Given the description of an element on the screen output the (x, y) to click on. 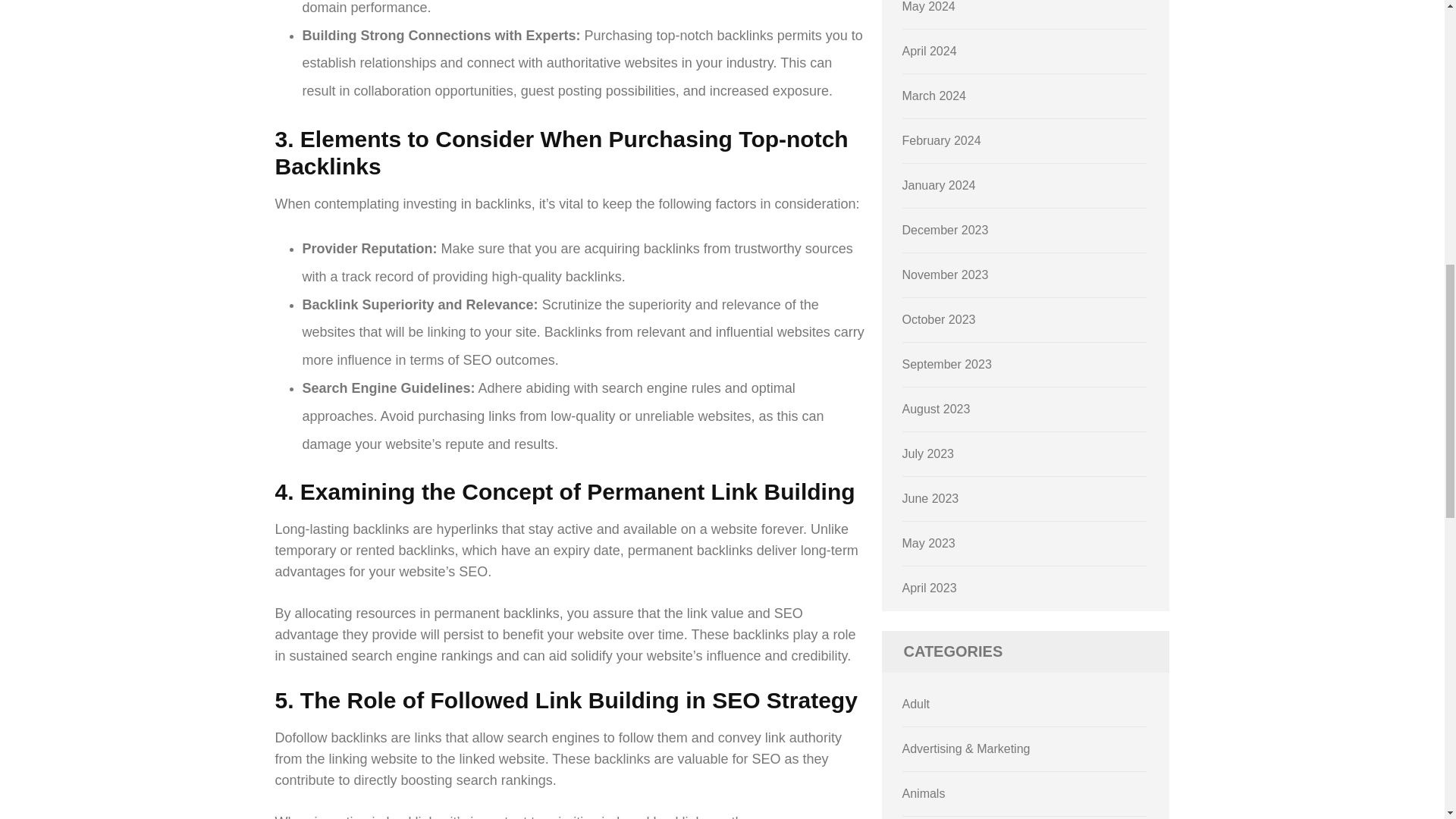
October 2023 (938, 318)
February 2024 (941, 140)
May 2024 (928, 6)
April 2023 (929, 587)
Adult (916, 703)
July 2023 (928, 453)
September 2023 (946, 364)
June 2023 (930, 498)
March 2024 (934, 95)
August 2023 (936, 408)
